Given the description of an element on the screen output the (x, y) to click on. 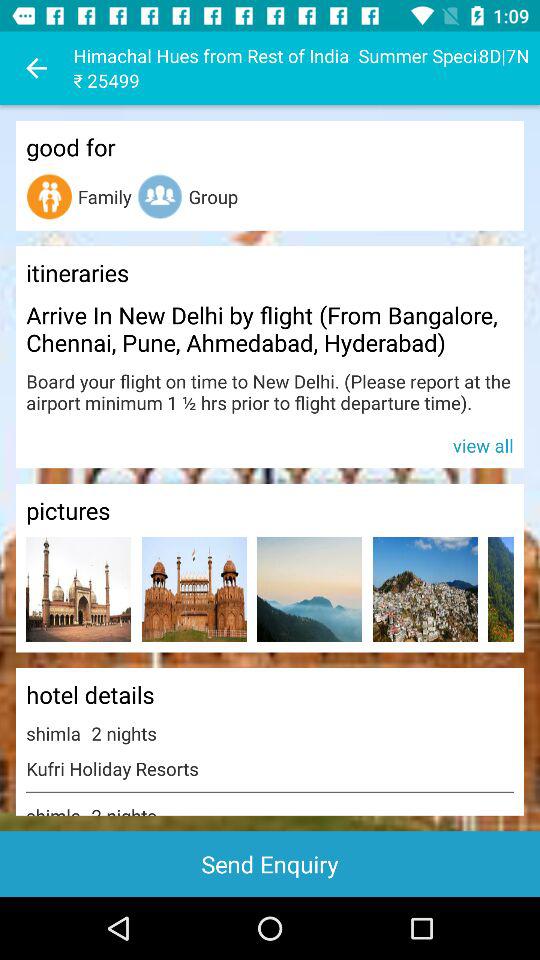
select the icon above the hotel details icon (309, 588)
